Given the description of an element on the screen output the (x, y) to click on. 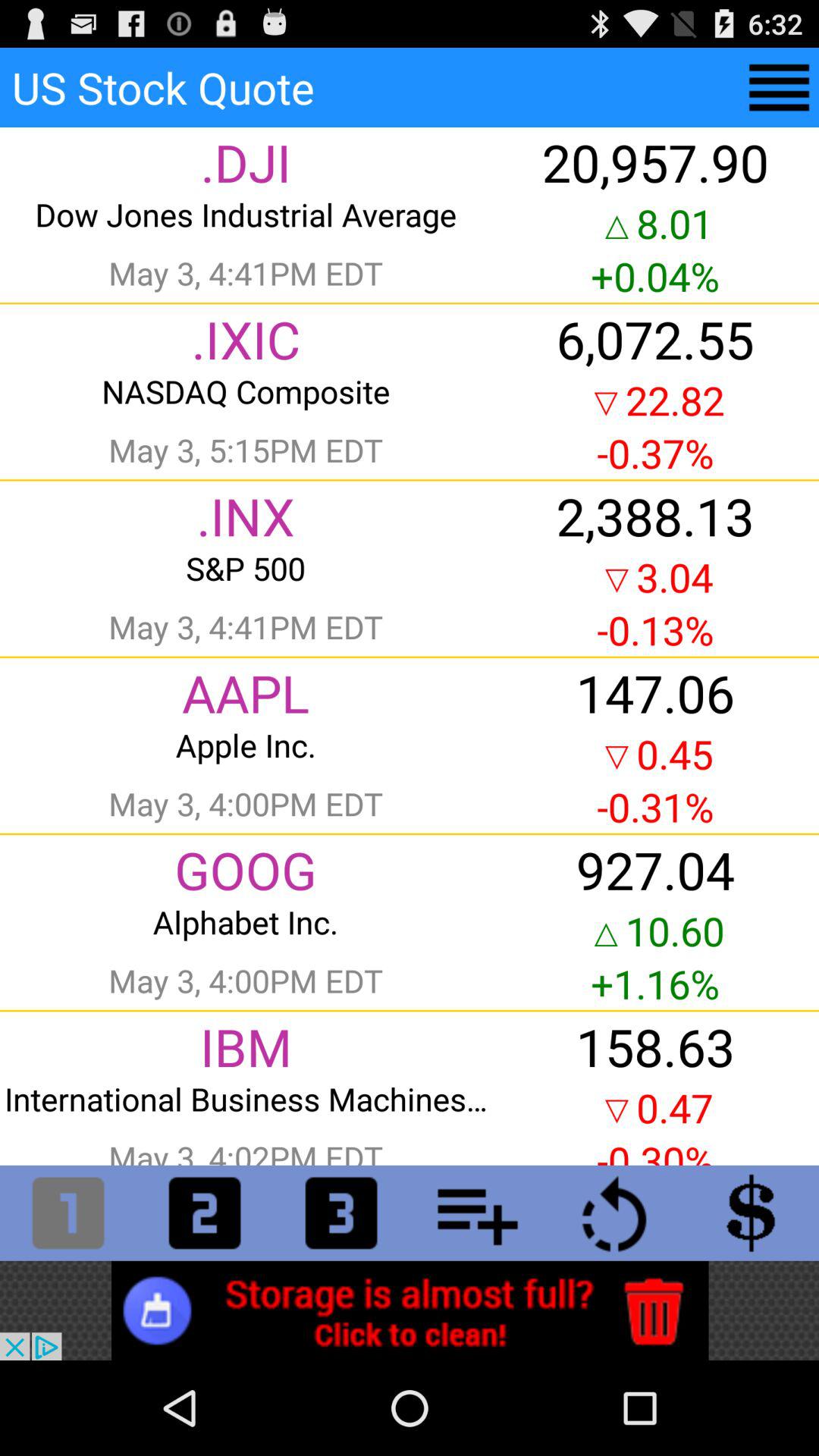
numbers (68, 1212)
